Given the description of an element on the screen output the (x, y) to click on. 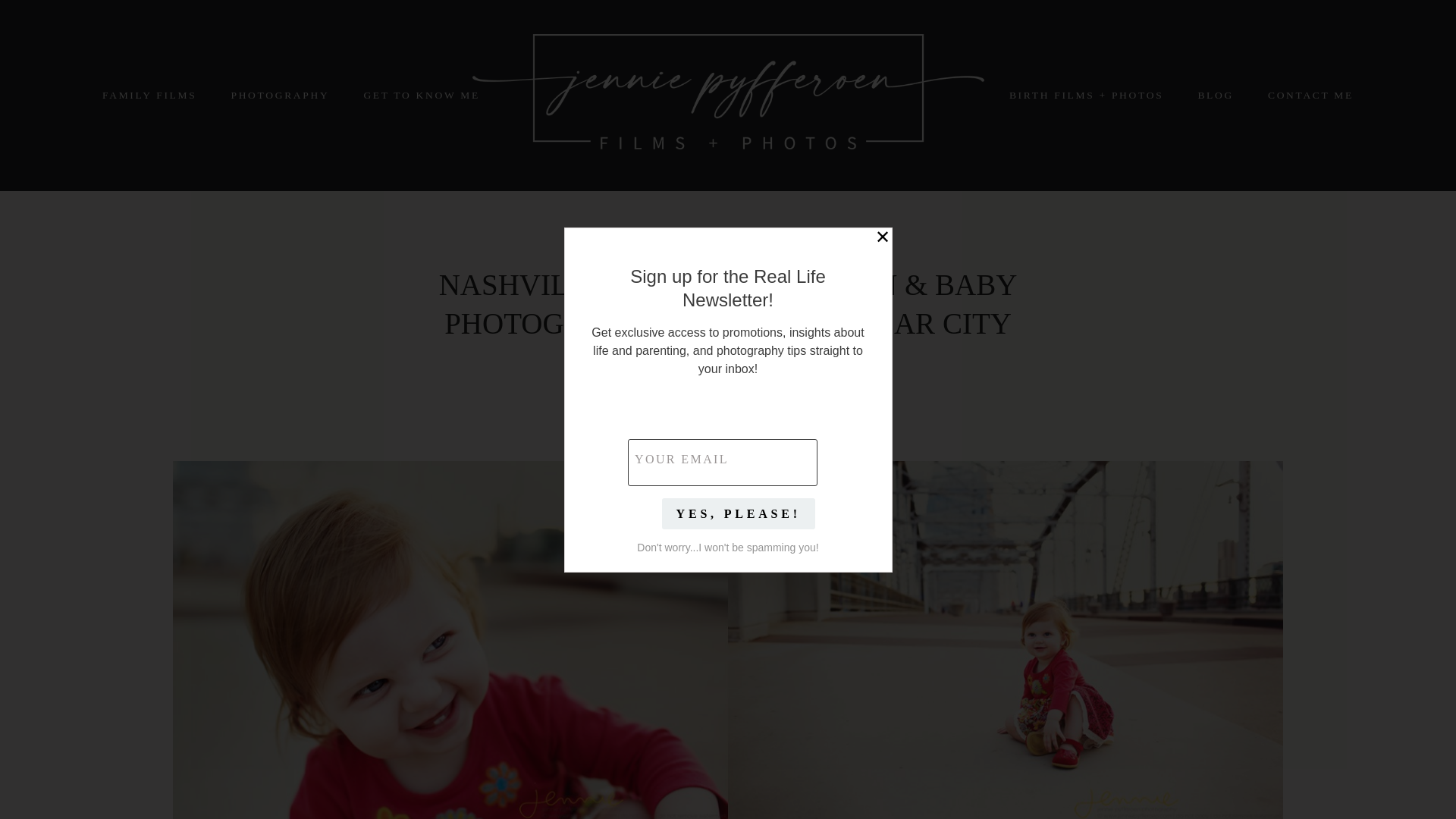
CONTACT ME (1311, 95)
BABY PHOTOGRAPHY (728, 256)
BLOG (1214, 95)
Yes, please! (738, 513)
Yes, please! (738, 513)
PHOTOGRAPHY (279, 95)
FAMILY FILMS (148, 95)
GET TO KNOW ME (420, 95)
